Given the description of an element on the screen output the (x, y) to click on. 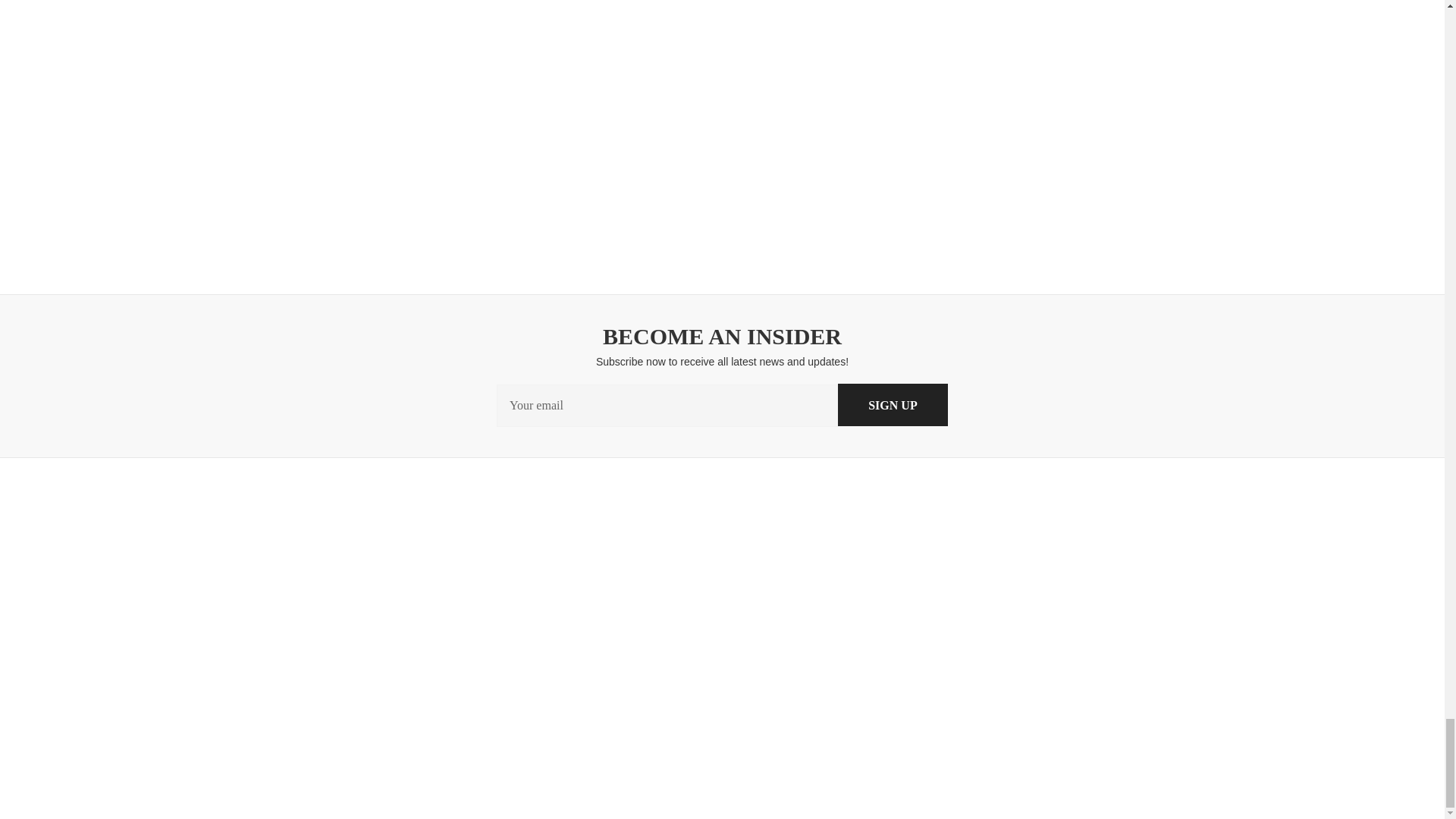
SIGN UP (892, 404)
